Given the description of an element on the screen output the (x, y) to click on. 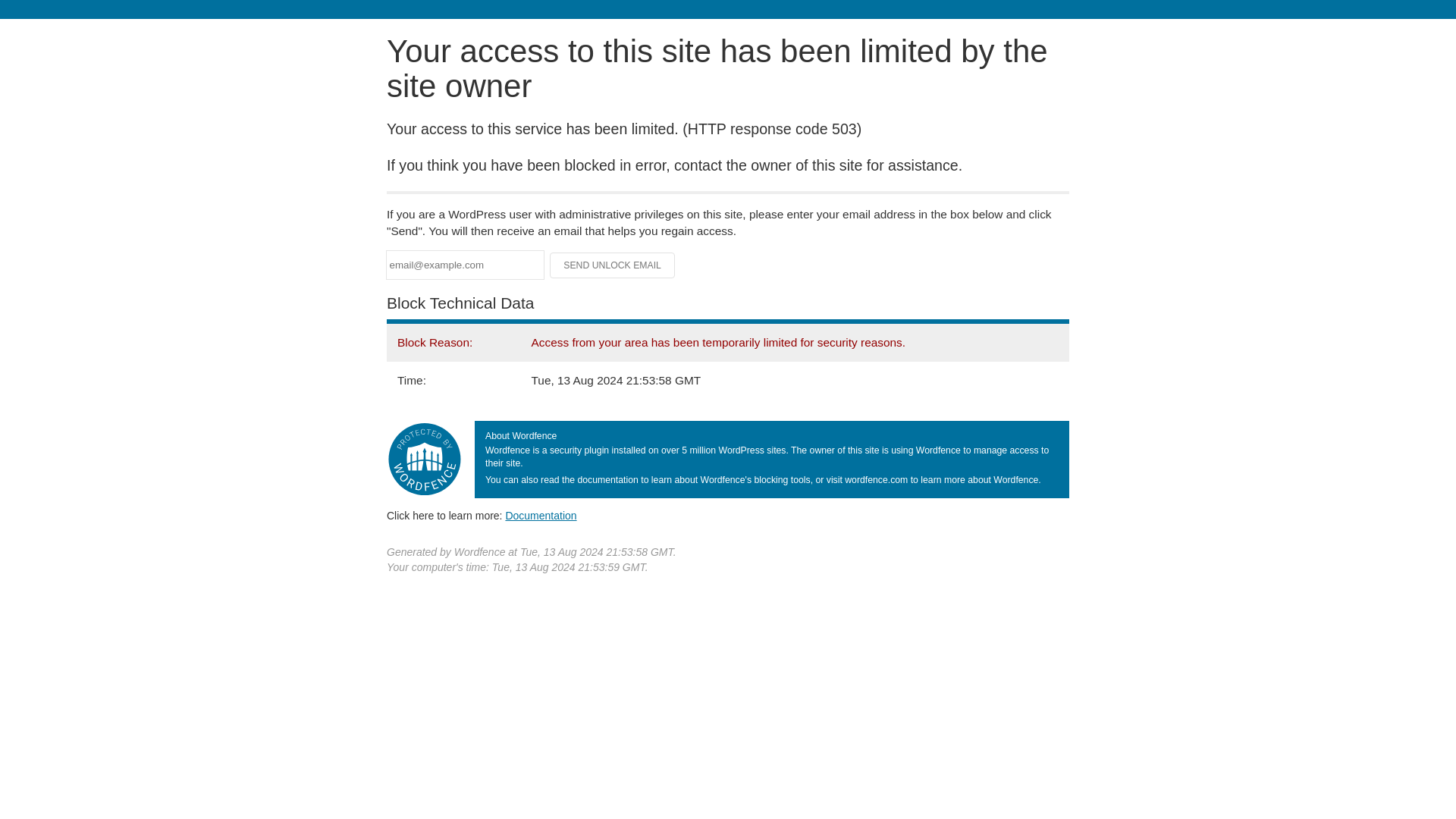
Send Unlock Email (612, 265)
Send Unlock Email (612, 265)
Documentation (540, 515)
